Given the description of an element on the screen output the (x, y) to click on. 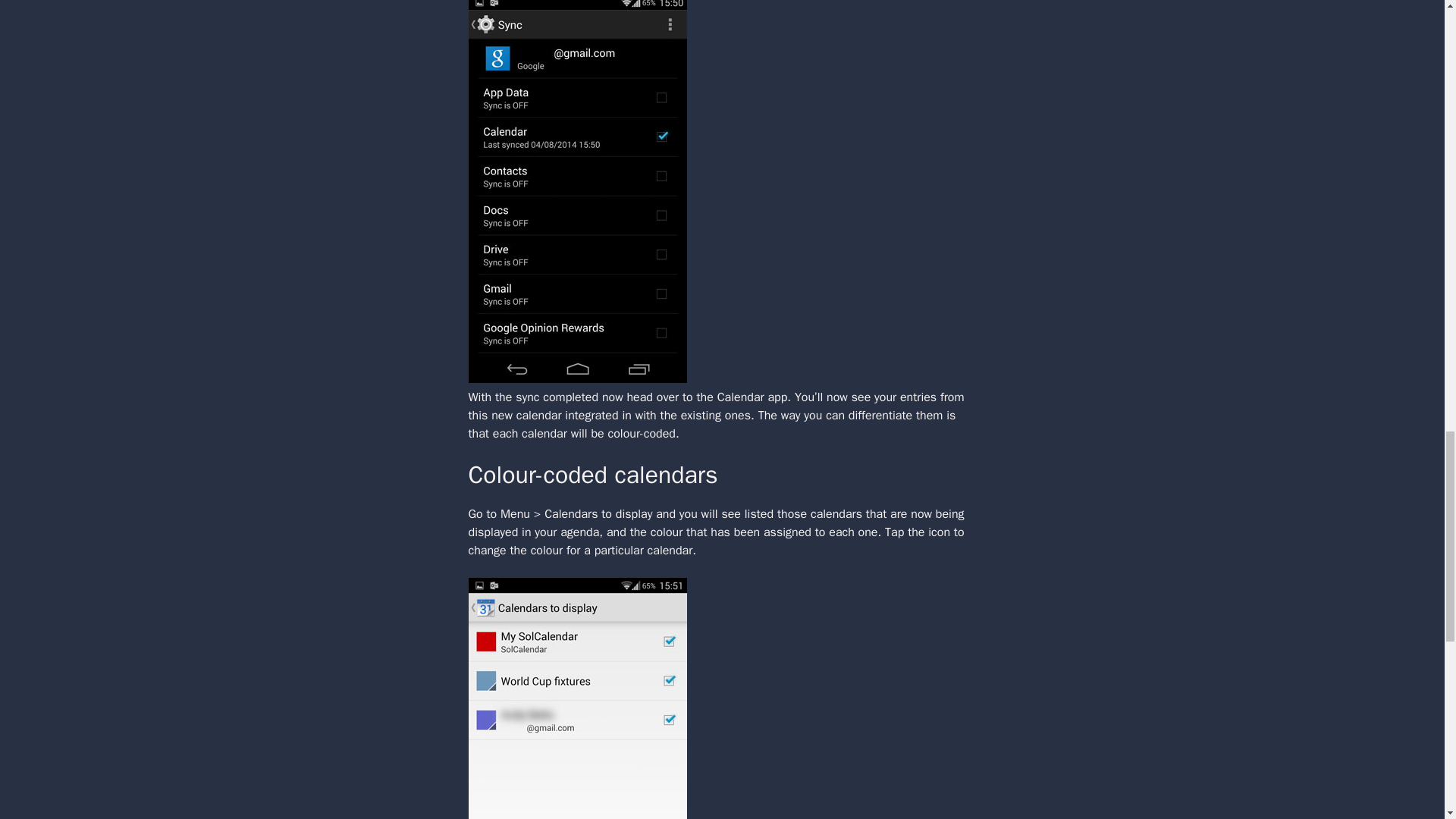
calendars to display.jpg (577, 698)
